Given the description of an element on the screen output the (x, y) to click on. 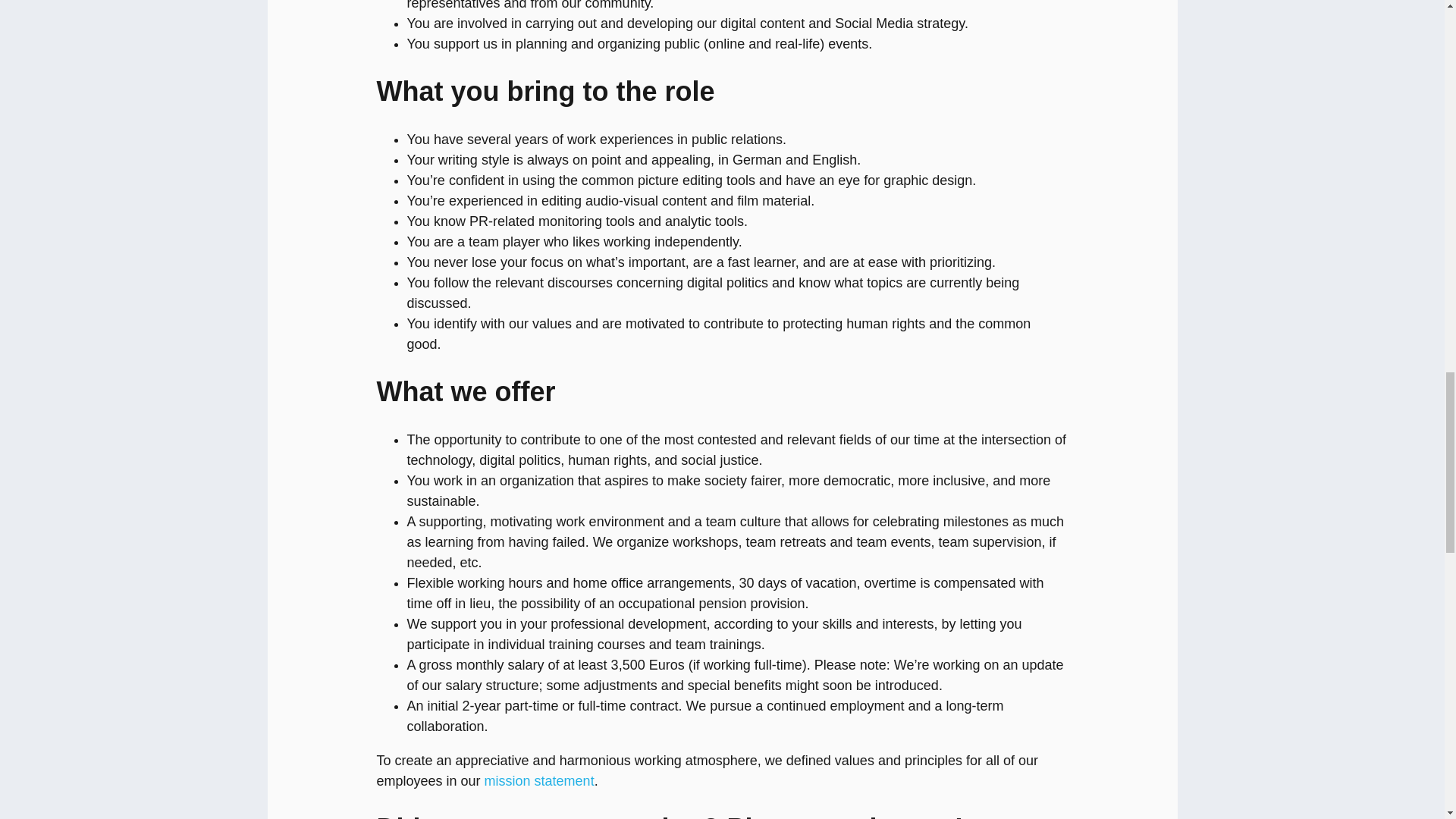
mission statement (539, 780)
